Given the description of an element on the screen output the (x, y) to click on. 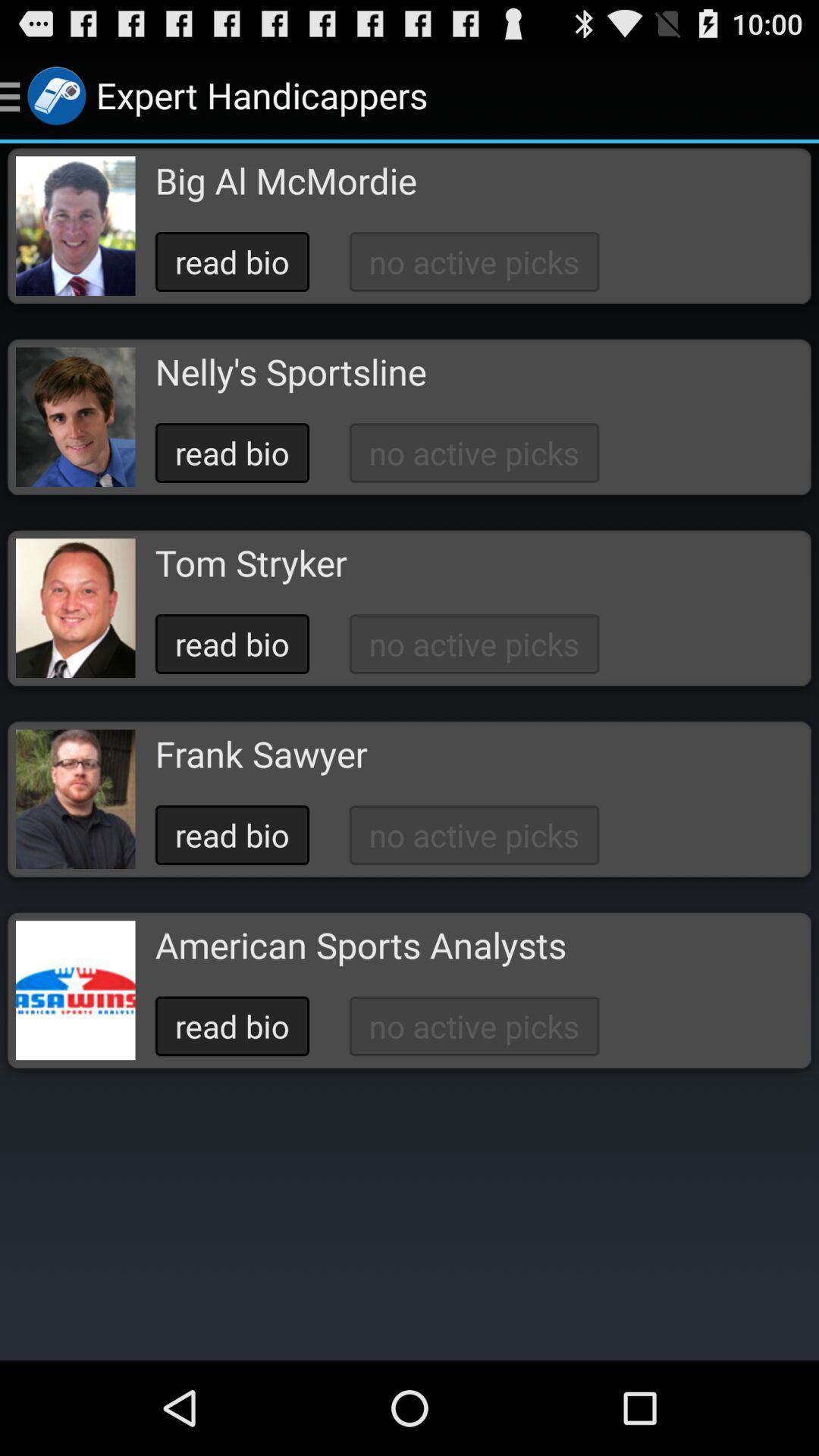
turn off the icon above the read bio (285, 180)
